Given the description of an element on the screen output the (x, y) to click on. 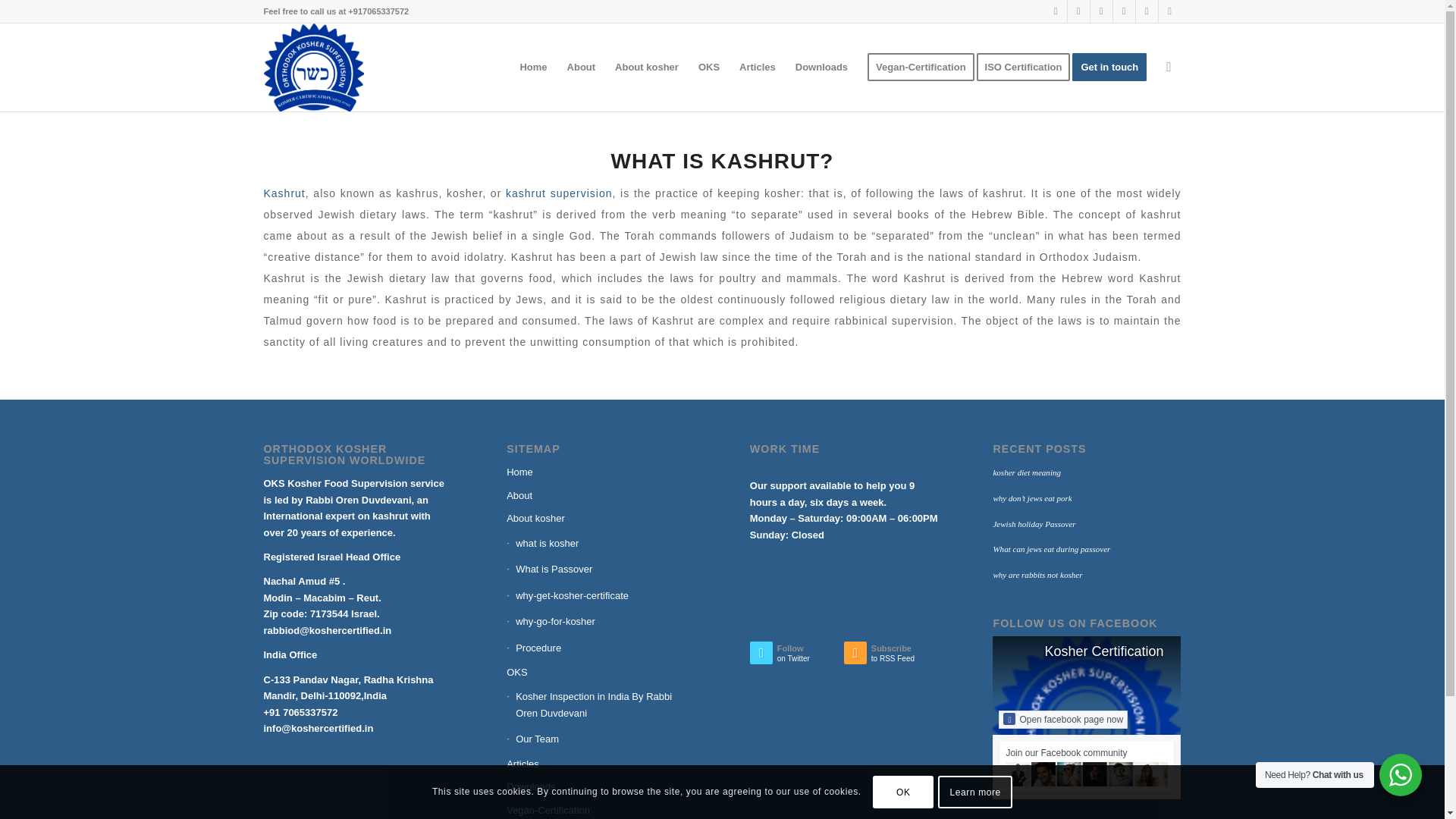
Pinterest (1124, 11)
Kashrut (284, 193)
Twitter (1056, 11)
Linkedin (1146, 11)
what is kosher (600, 543)
What is Passover (600, 569)
Kosher Inspection in India By Rabbi Oren Duvdevani (600, 704)
About kosher (600, 517)
ISO Certification (1028, 67)
Get in touch (1113, 67)
